Given the description of an element on the screen output the (x, y) to click on. 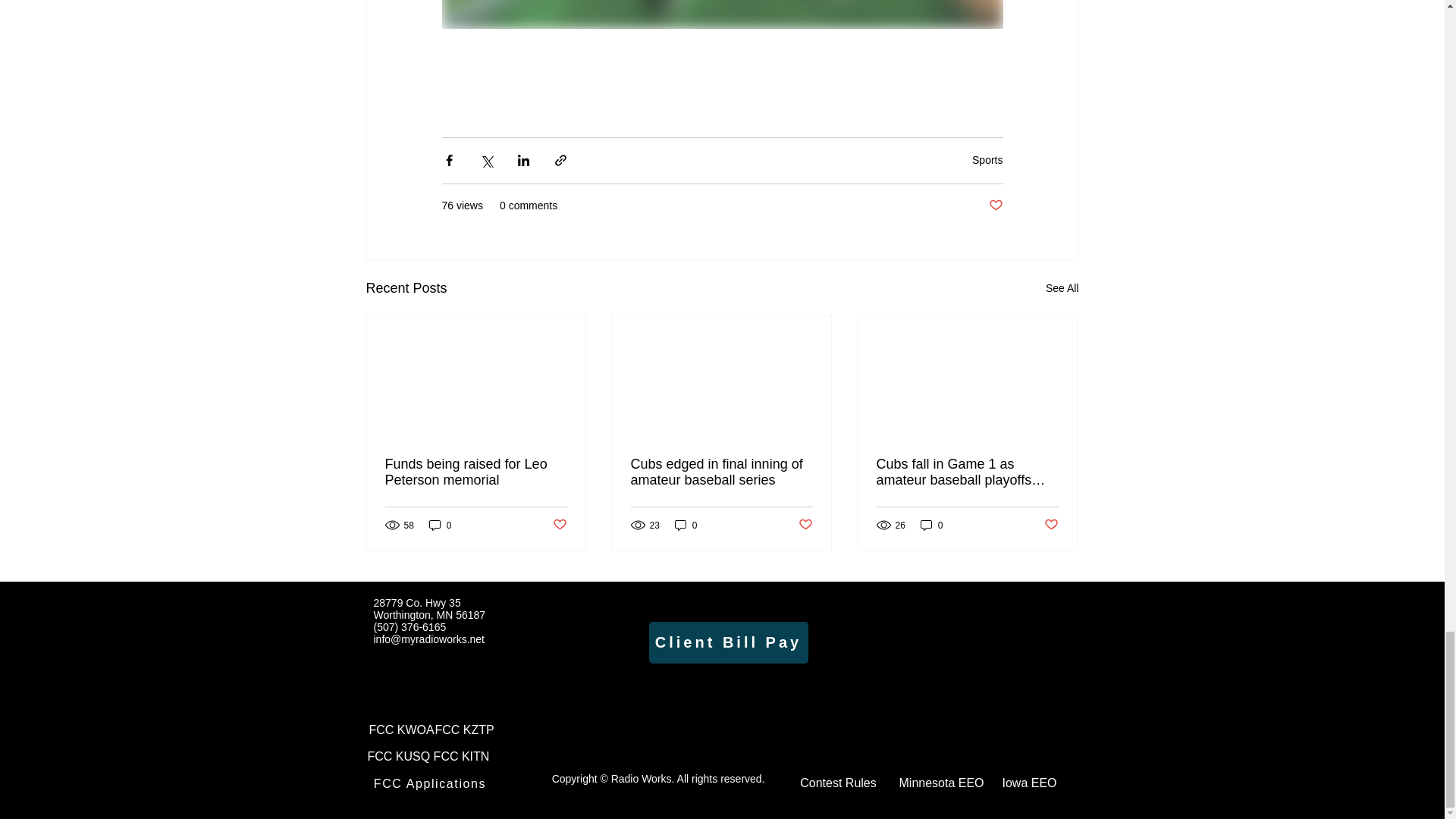
Post not marked as liked (995, 205)
Sports (987, 159)
See All (1061, 288)
Funds being raised for Leo Peterson memorial (476, 472)
0 (440, 524)
